Given the description of an element on the screen output the (x, y) to click on. 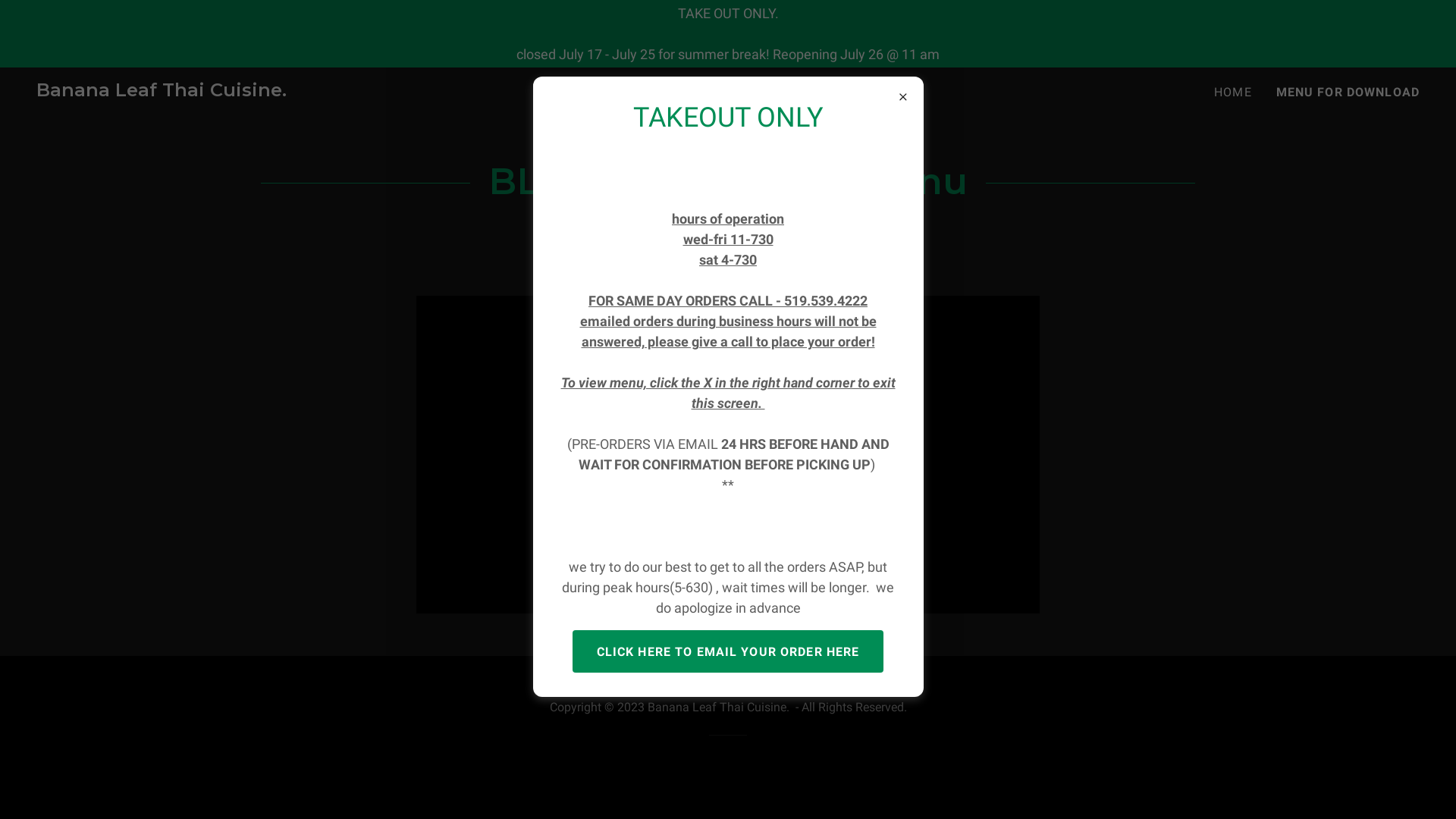
Banana Leaf Thai Cuisine. Element type: text (161, 91)
Download PDF Element type: text (727, 245)
CLICK HERE TO EMAIL YOUR ORDER HERE Element type: text (728, 651)
HOME Element type: text (1232, 92)
MENU FOR DOWNLOAD Element type: text (1347, 92)
